Given the description of an element on the screen output the (x, y) to click on. 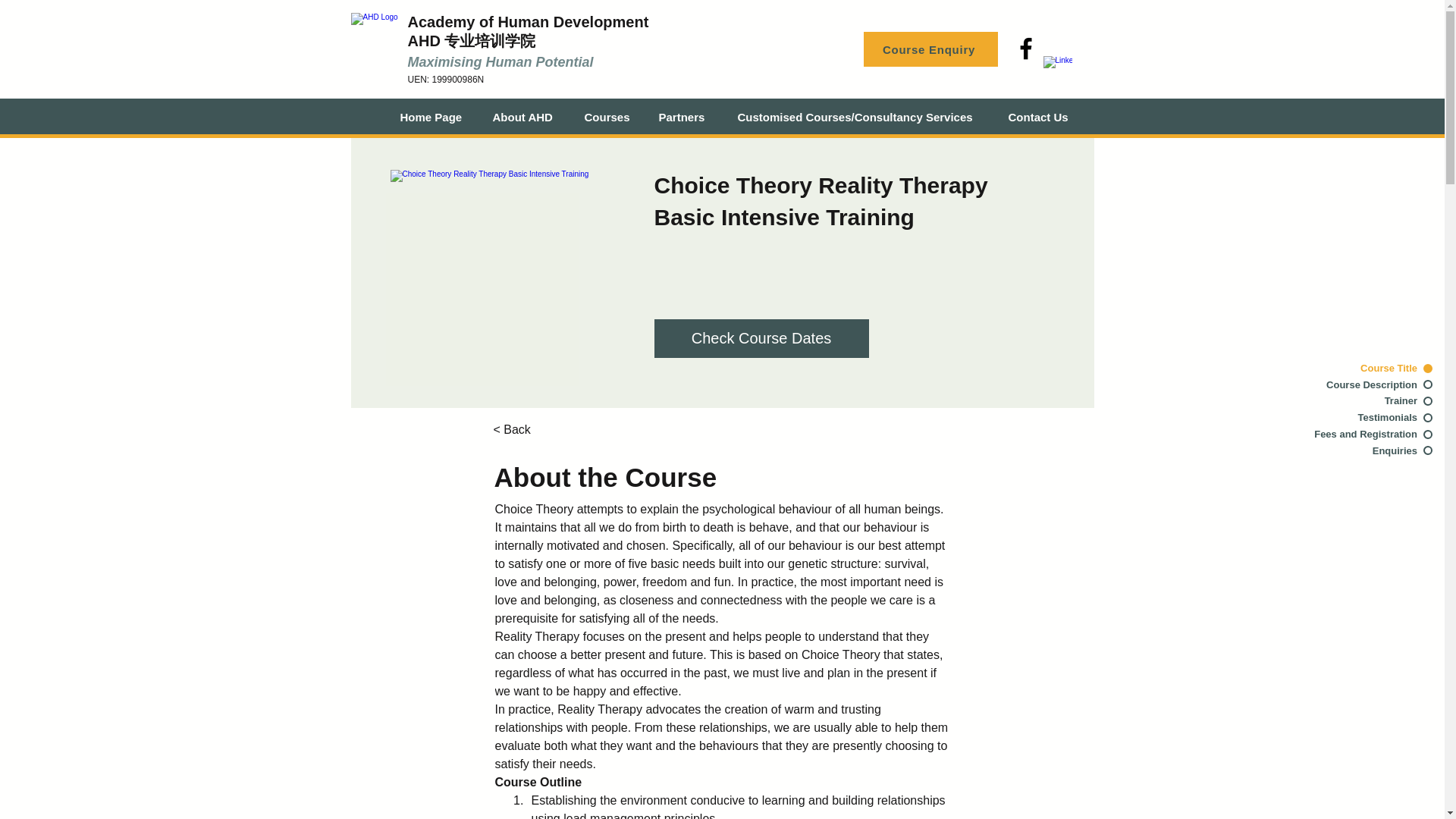
Partners (689, 117)
Testimonials (1353, 417)
Trainer (1353, 400)
Enquiries (1353, 450)
Home Page (438, 117)
Course Description (1353, 384)
Course Enquiry (930, 48)
Course Title (1353, 367)
Choice Theory Reality Therapy Basic Intensive Training (514, 247)
Contact Us (1047, 117)
Check Course Dates (760, 338)
Courses (613, 117)
Fees and Registration (1353, 433)
About AHD (530, 117)
